Given the description of an element on the screen output the (x, y) to click on. 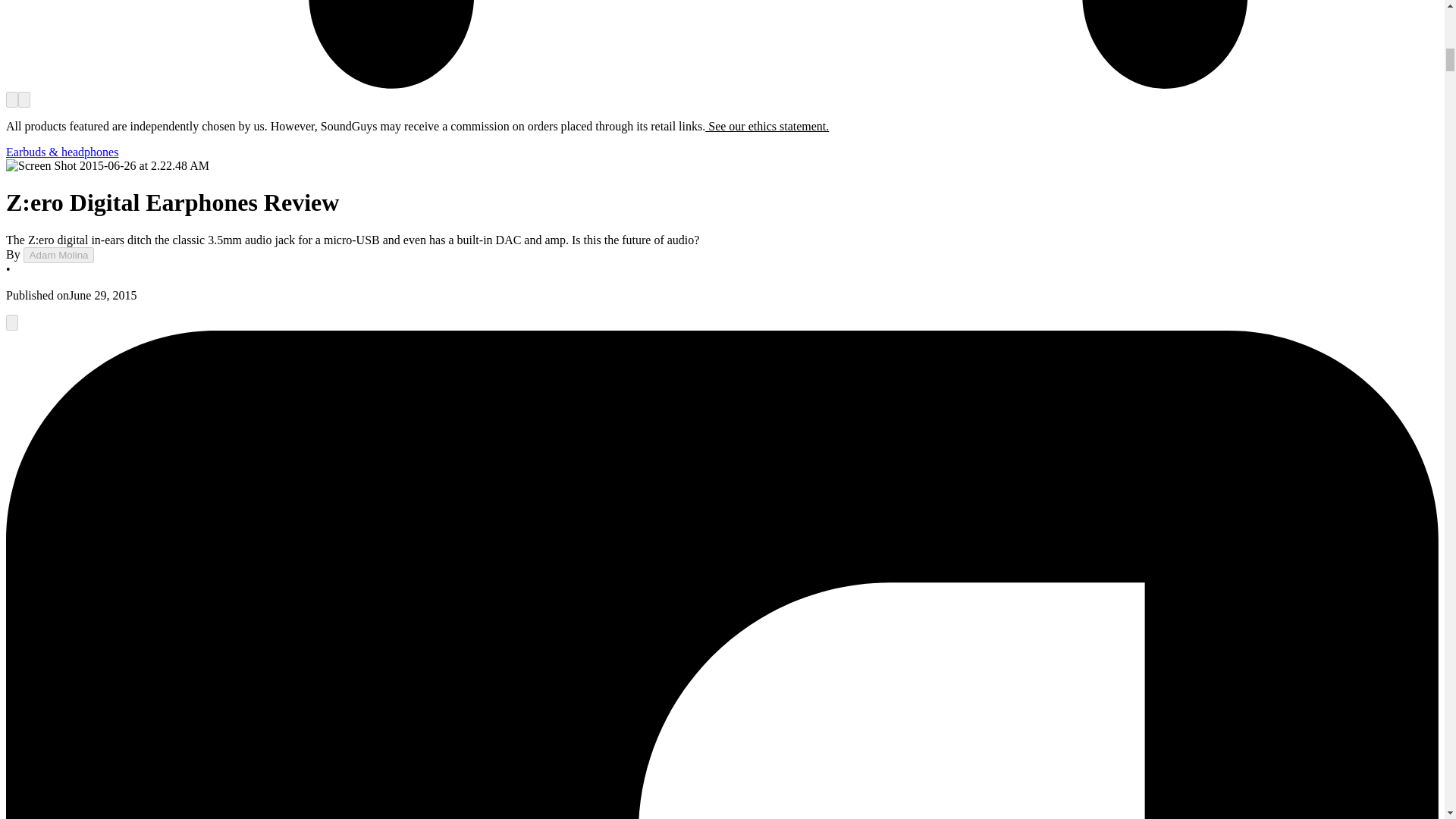
Screen Shot 2015-06-26 at 2.22.48 AM (107, 165)
Adam Molina (58, 254)
See our ethics statement. (766, 125)
